Given the description of an element on the screen output the (x, y) to click on. 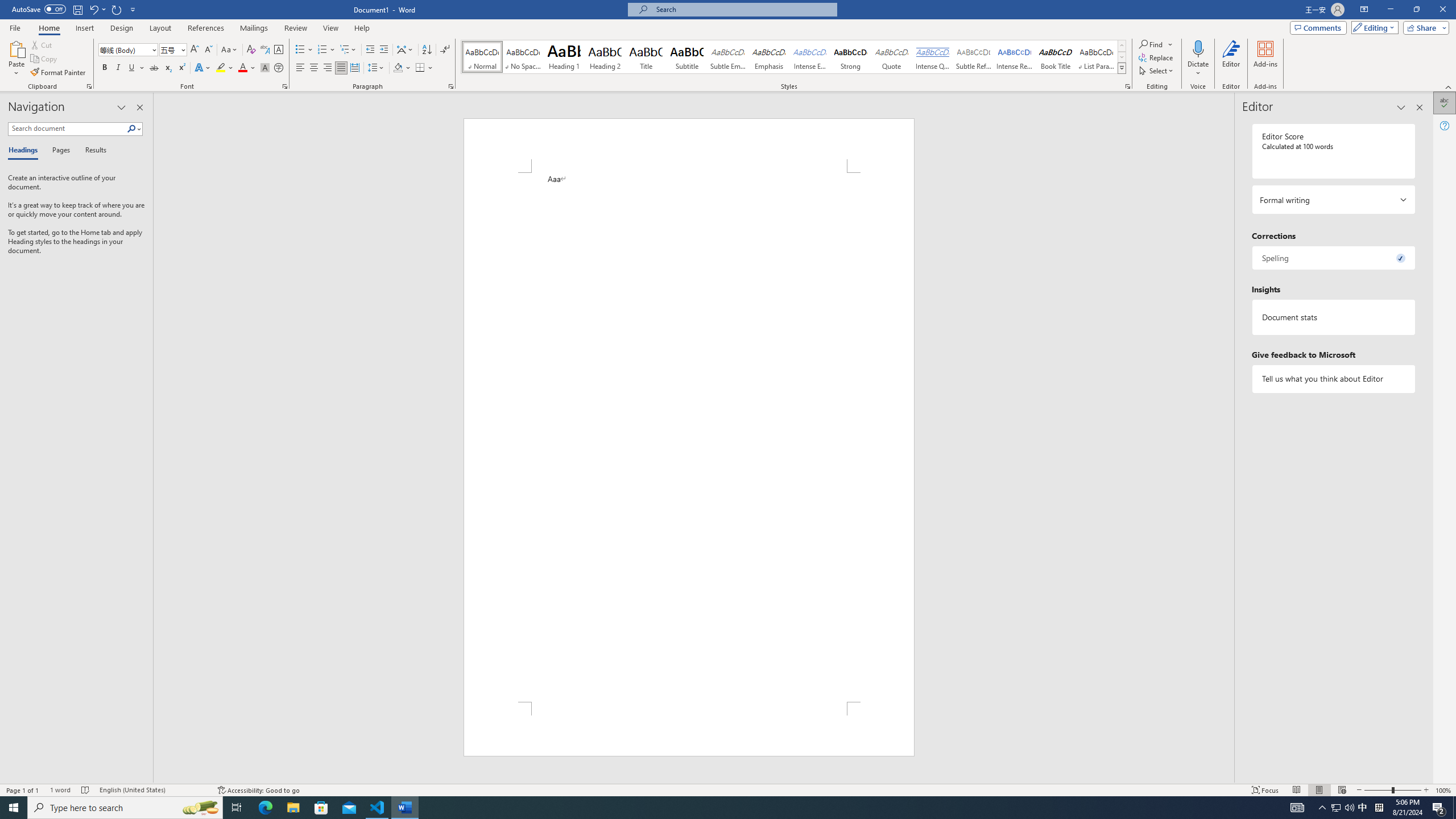
Styles... (1127, 85)
Strong (849, 56)
Shrink Font (208, 49)
Intense Reference (1014, 56)
Justify (340, 67)
Distributed (354, 67)
Font Color (246, 67)
Superscript (180, 67)
Select (1157, 69)
Styles (1121, 67)
Document statistics (1333, 316)
Enclose Characters... (278, 67)
